Given the description of an element on the screen output the (x, y) to click on. 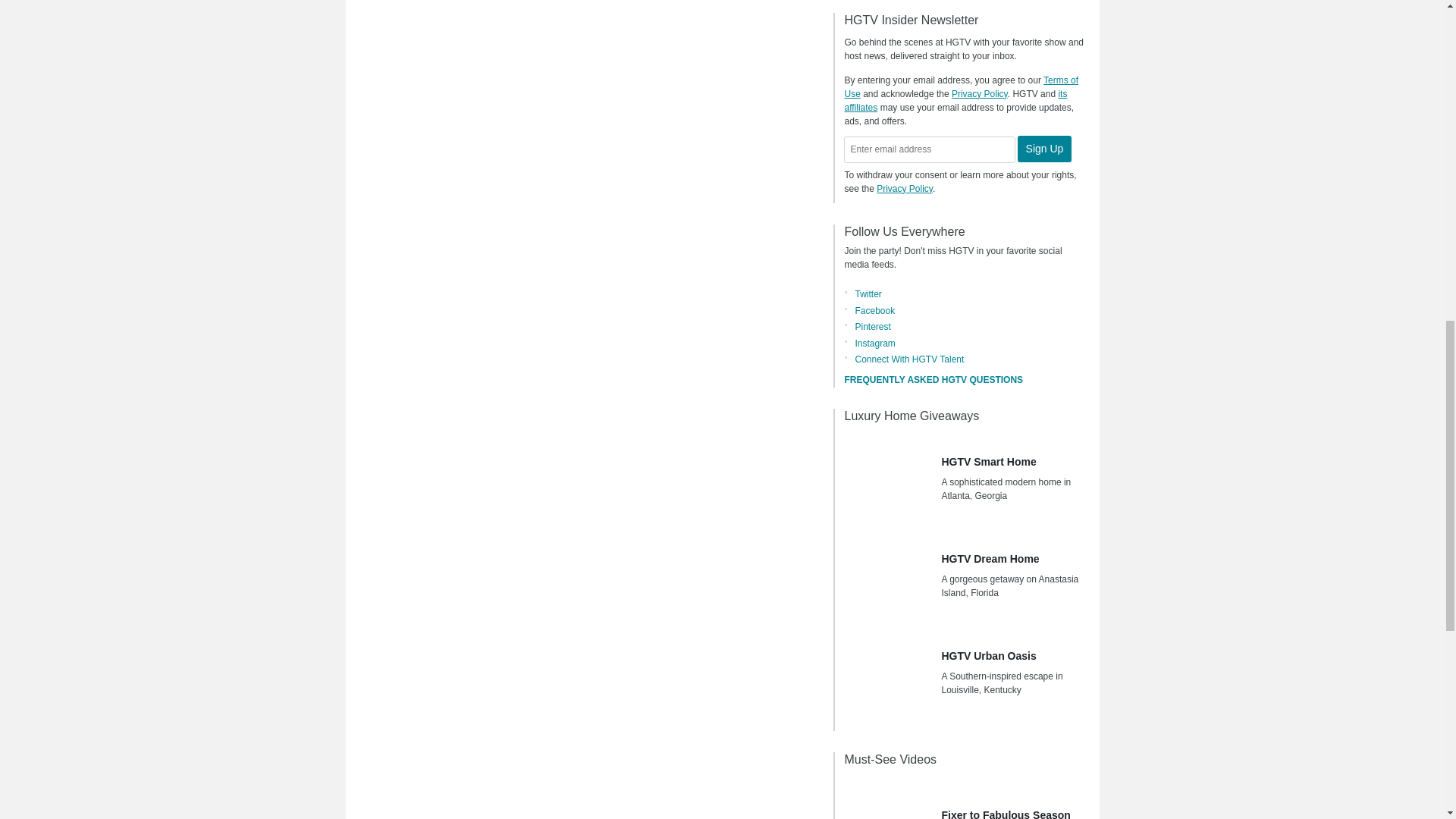
HGTV Dream Home (887, 580)
HGTV Urban Oasis (887, 676)
HGTV Smart Home (887, 482)
Fixer to Fabulous Season One Highlights (887, 800)
